Given the description of an element on the screen output the (x, y) to click on. 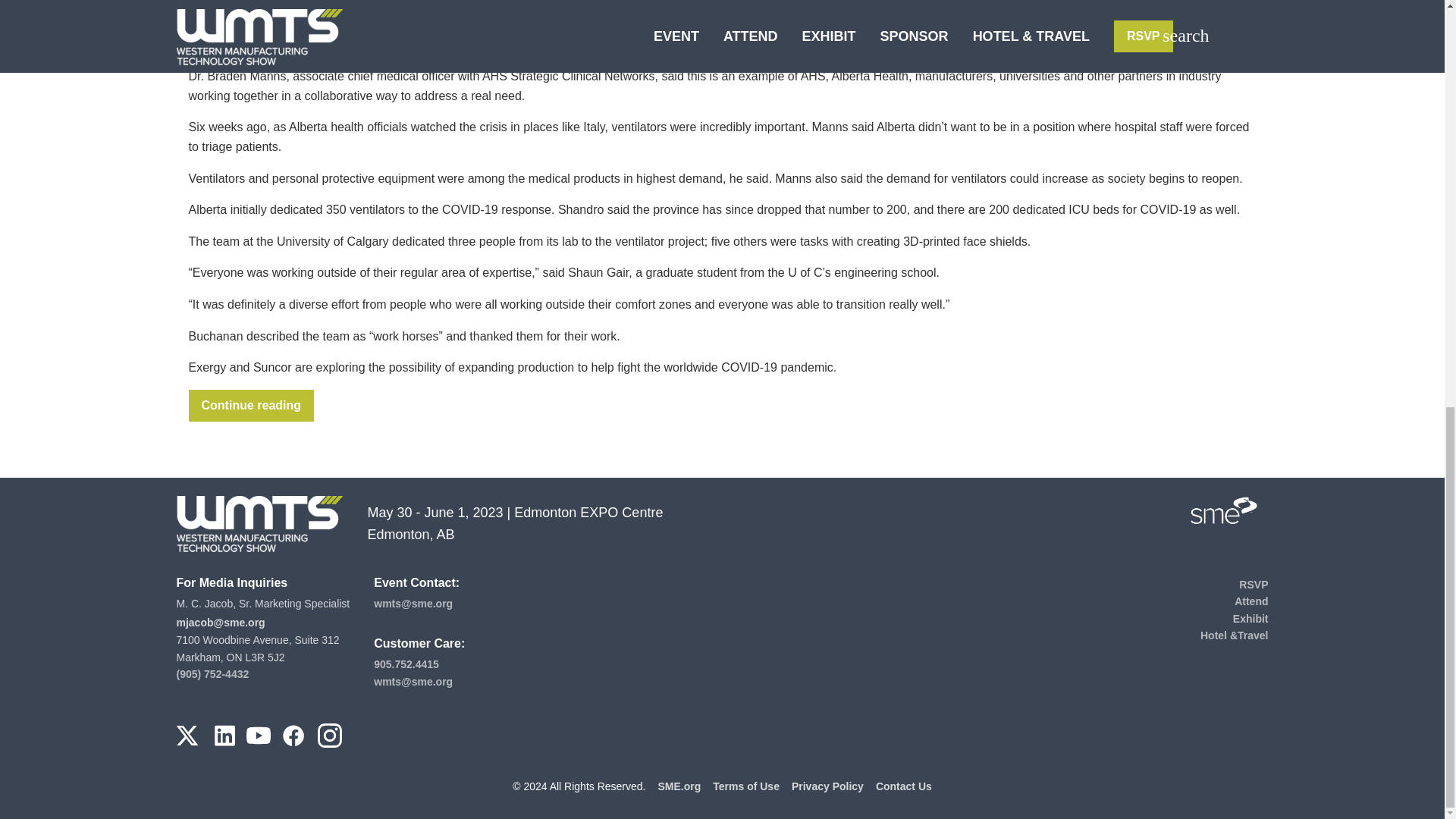
RSVP (1253, 584)
905.752.4415 (406, 664)
Continue reading (250, 405)
